Given the description of an element on the screen output the (x, y) to click on. 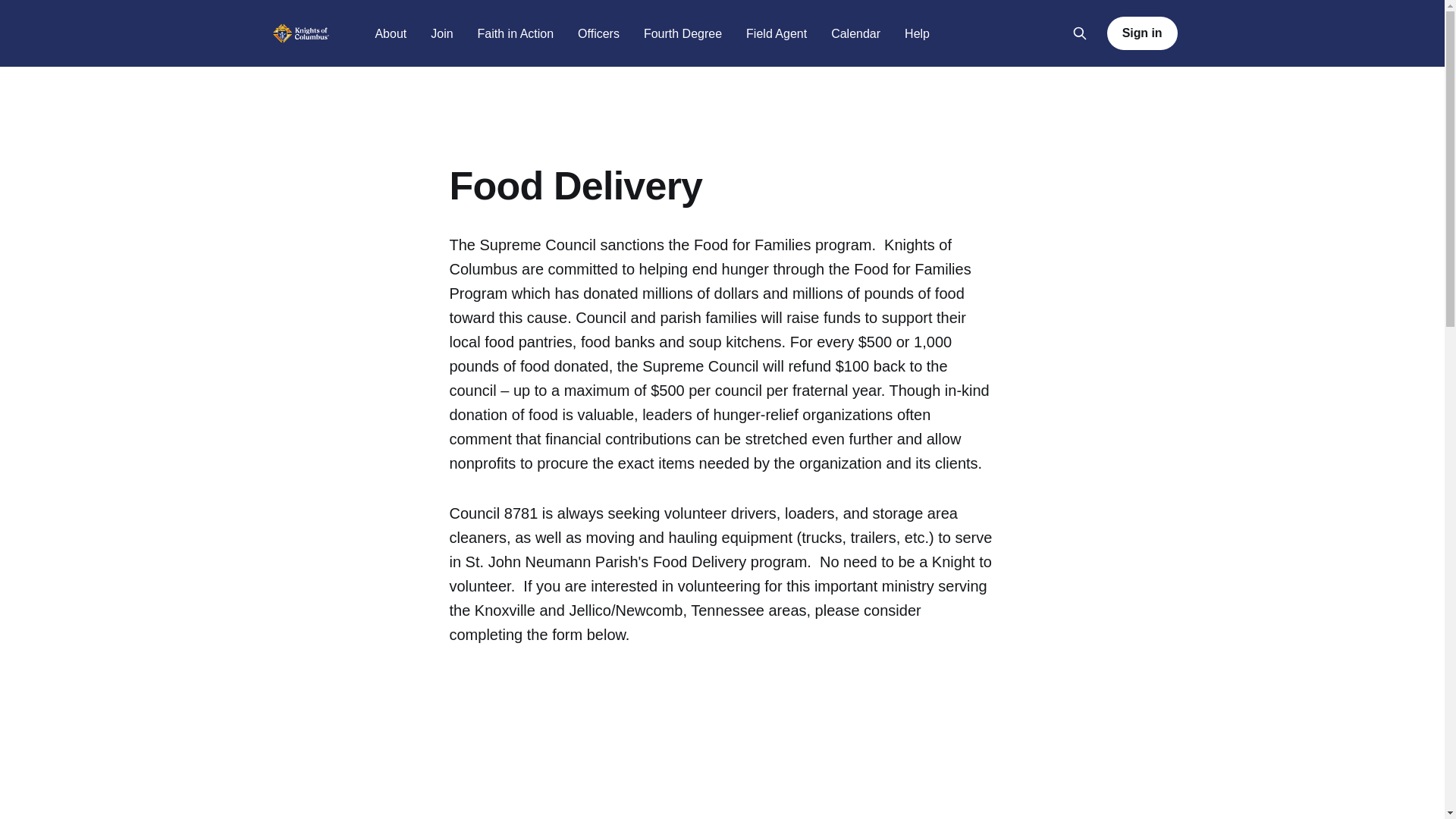
Join (441, 33)
Sign in (1141, 32)
Field Agent (775, 33)
About (390, 33)
Calendar (855, 33)
Officers (599, 33)
Fourth Degree (682, 33)
Help (917, 33)
Faith in Action (515, 33)
